Given the description of an element on the screen output the (x, y) to click on. 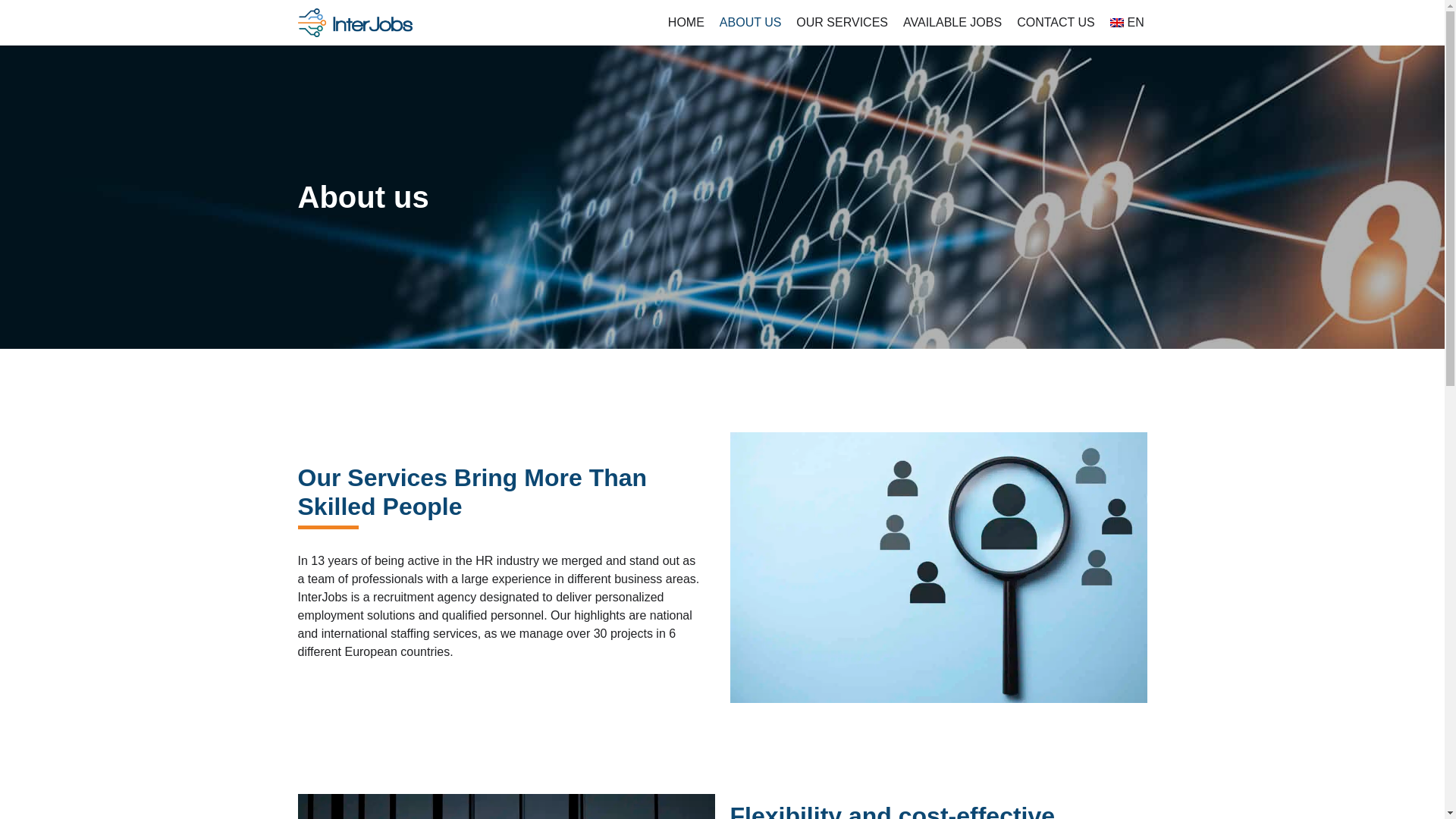
EN (1126, 22)
EN (1126, 22)
AVAILABLE JOBS (951, 22)
ABOUT US (750, 22)
OUR SERVICES (842, 22)
CONTACT US (1055, 22)
HOME (686, 22)
